Given the description of an element on the screen output the (x, y) to click on. 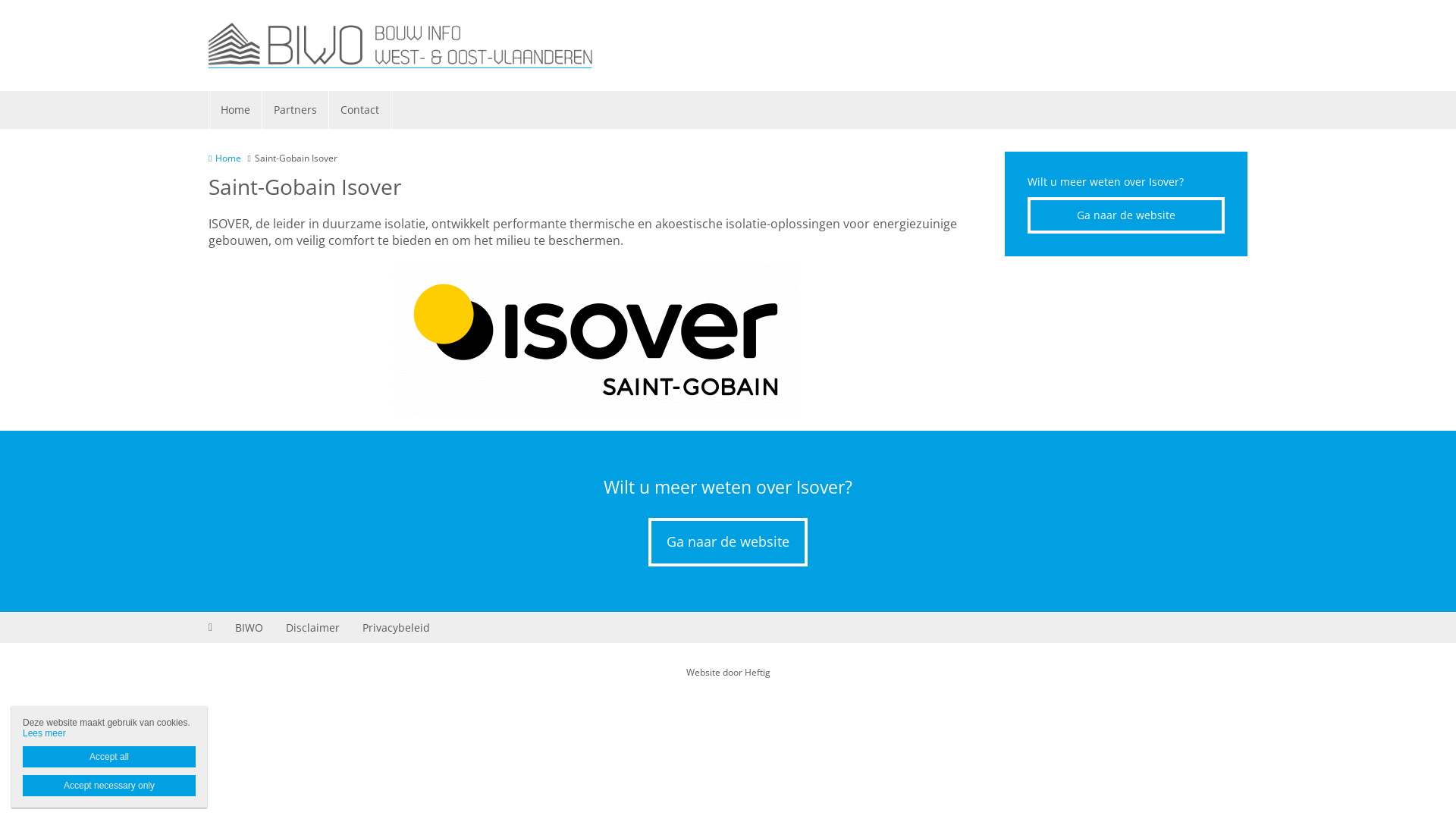
Overslaan en naar de inhoud gaan Element type: text (81, 0)
Home | Bouw Info West- & Oost-Vlaanderen Element type: hover (400, 45)
Home Element type: text (235, 109)
Saint-Gobain Isover Element type: hover (594, 339)
Ga naar de website Element type: text (1125, 215)
Home Element type: text (224, 157)
BIWO Element type: text (249, 627)
Contact Element type: text (360, 109)
Home | Bouw Info West- & Oost-Vlaanderen Element type: hover (422, 45)
Lees meer Element type: text (43, 733)
Ga naar de website Element type: text (727, 541)
Partners Element type: text (295, 109)
Website door Heftig Element type: text (727, 671)
Privacybeleid Element type: text (395, 627)
Accept necessary only Element type: text (108, 785)
Disclaimer Element type: text (312, 627)
Accept all Element type: text (108, 756)
